Given the description of an element on the screen output the (x, y) to click on. 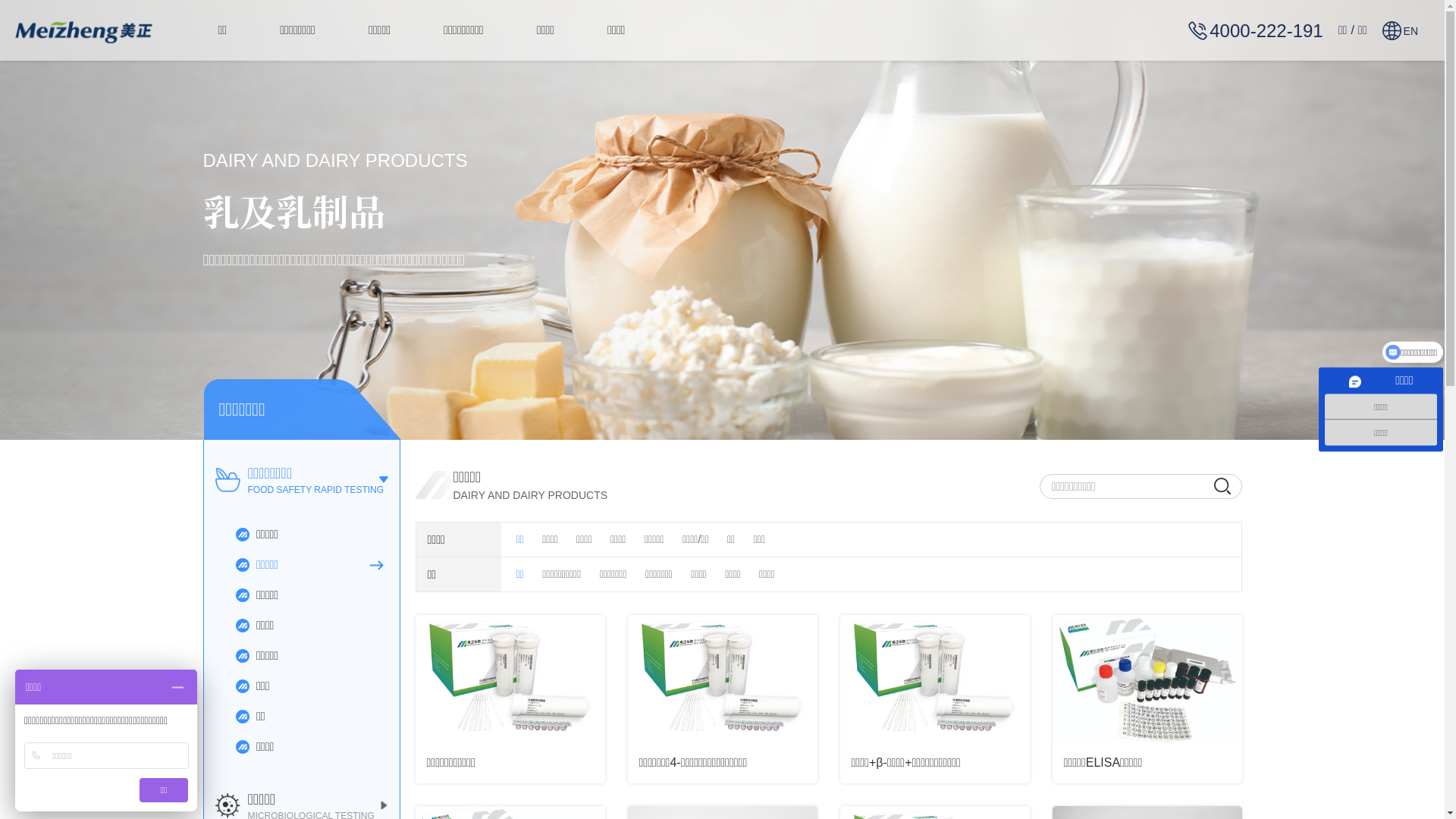
EN Element type: text (1400, 30)
4000-222-191 Element type: text (1255, 30)
